Given the description of an element on the screen output the (x, y) to click on. 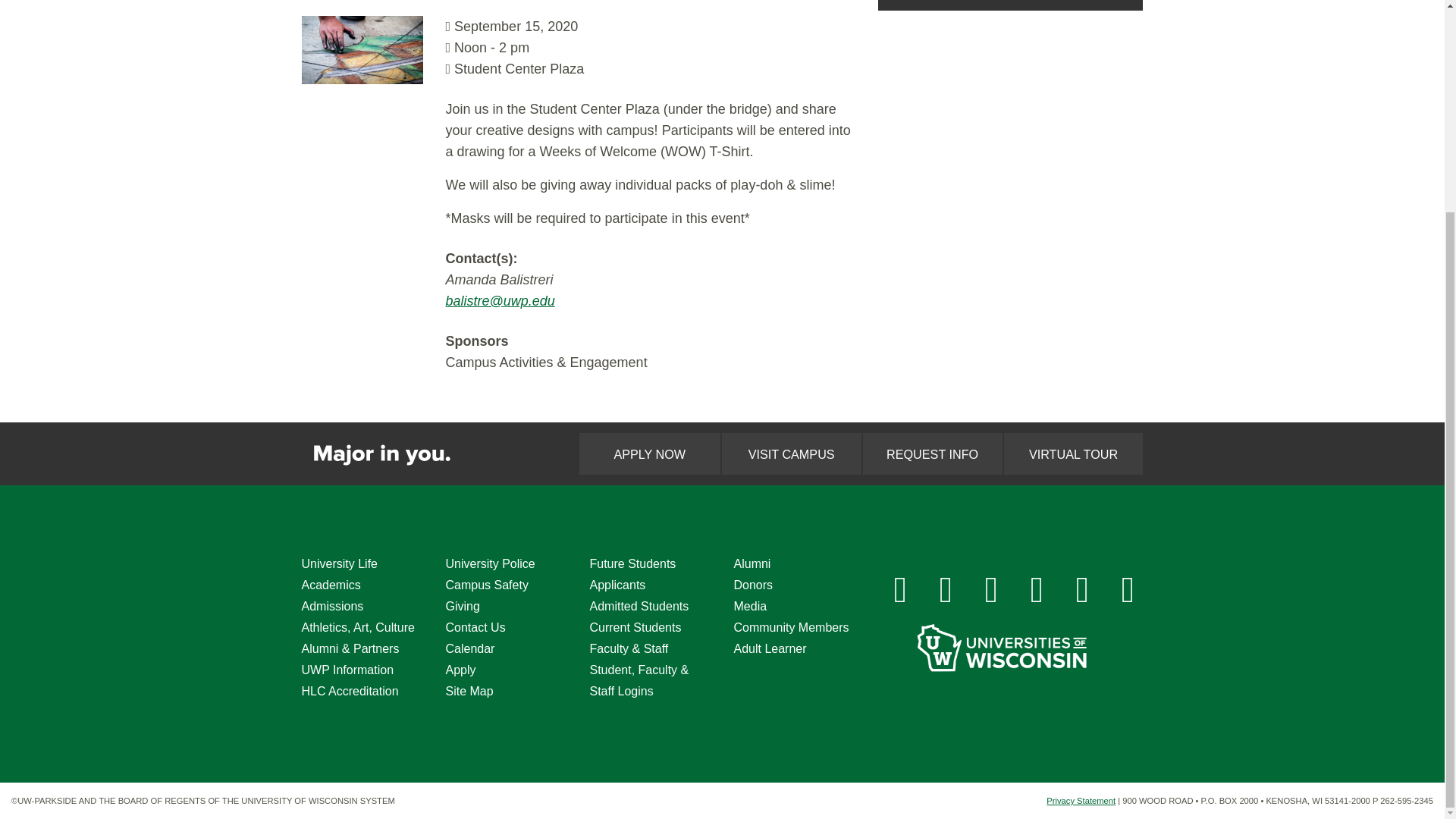
Instagram (946, 589)
Download as .ics (1009, 5)
LinkedIn (1036, 589)
X (991, 589)
Email Admissions (1128, 589)
Facebook (900, 589)
TikTok (1082, 589)
